Given the description of an element on the screen output the (x, y) to click on. 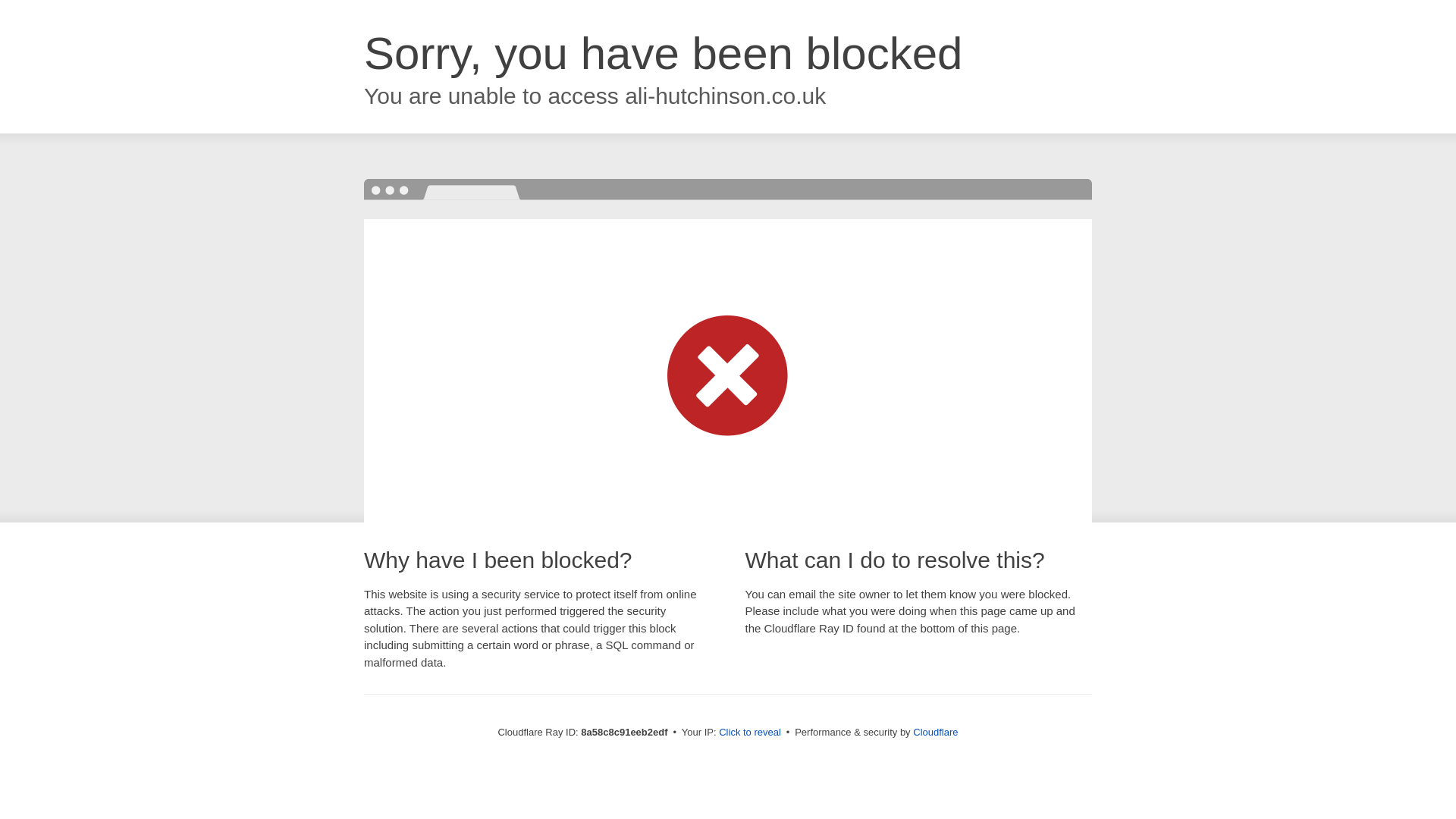
Click to reveal (749, 732)
Cloudflare (935, 731)
